Given the description of an element on the screen output the (x, y) to click on. 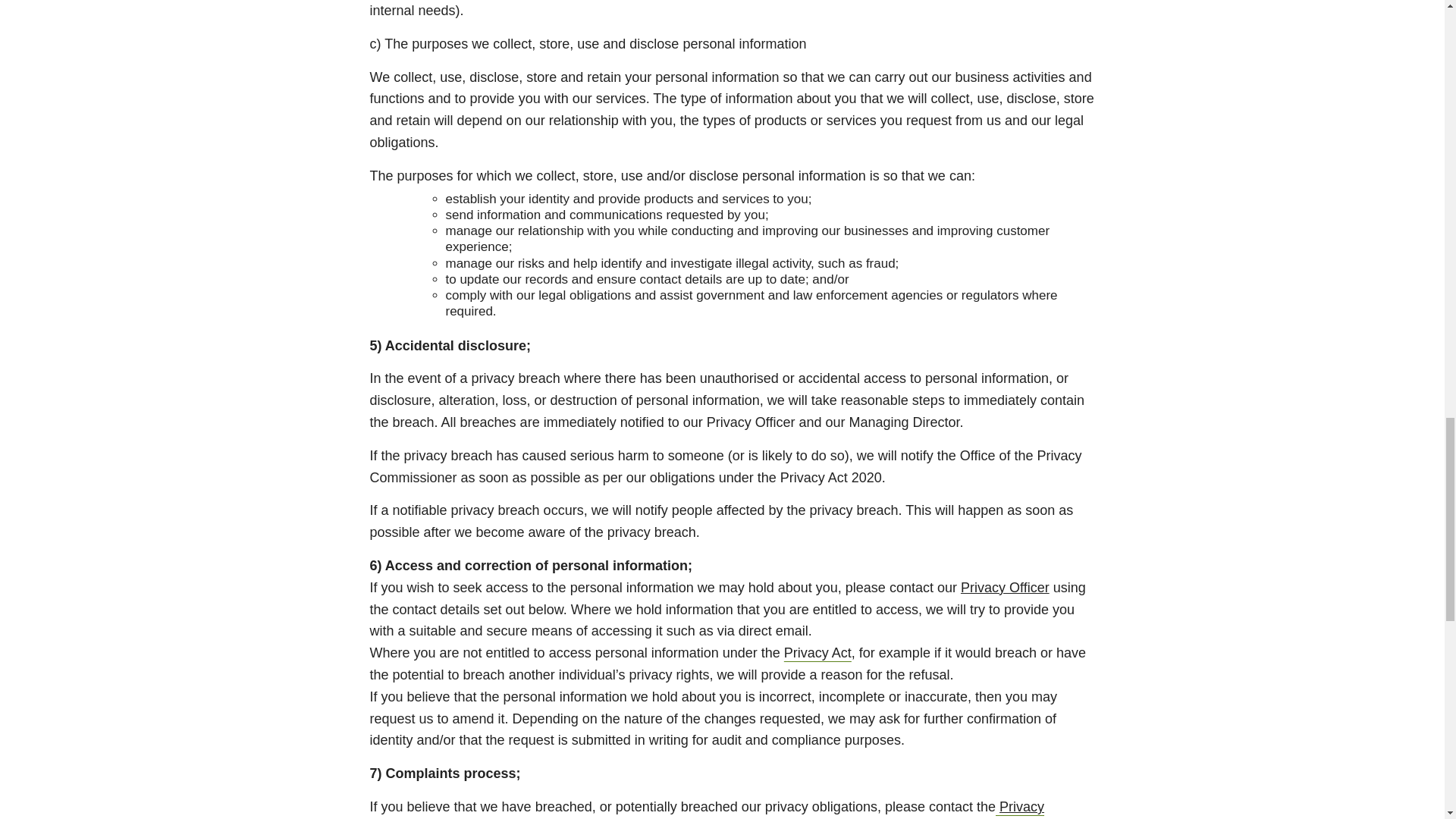
Privacy Office (707, 809)
Privacy Act (817, 652)
Privacy Act (817, 652)
